Given the description of an element on the screen output the (x, y) to click on. 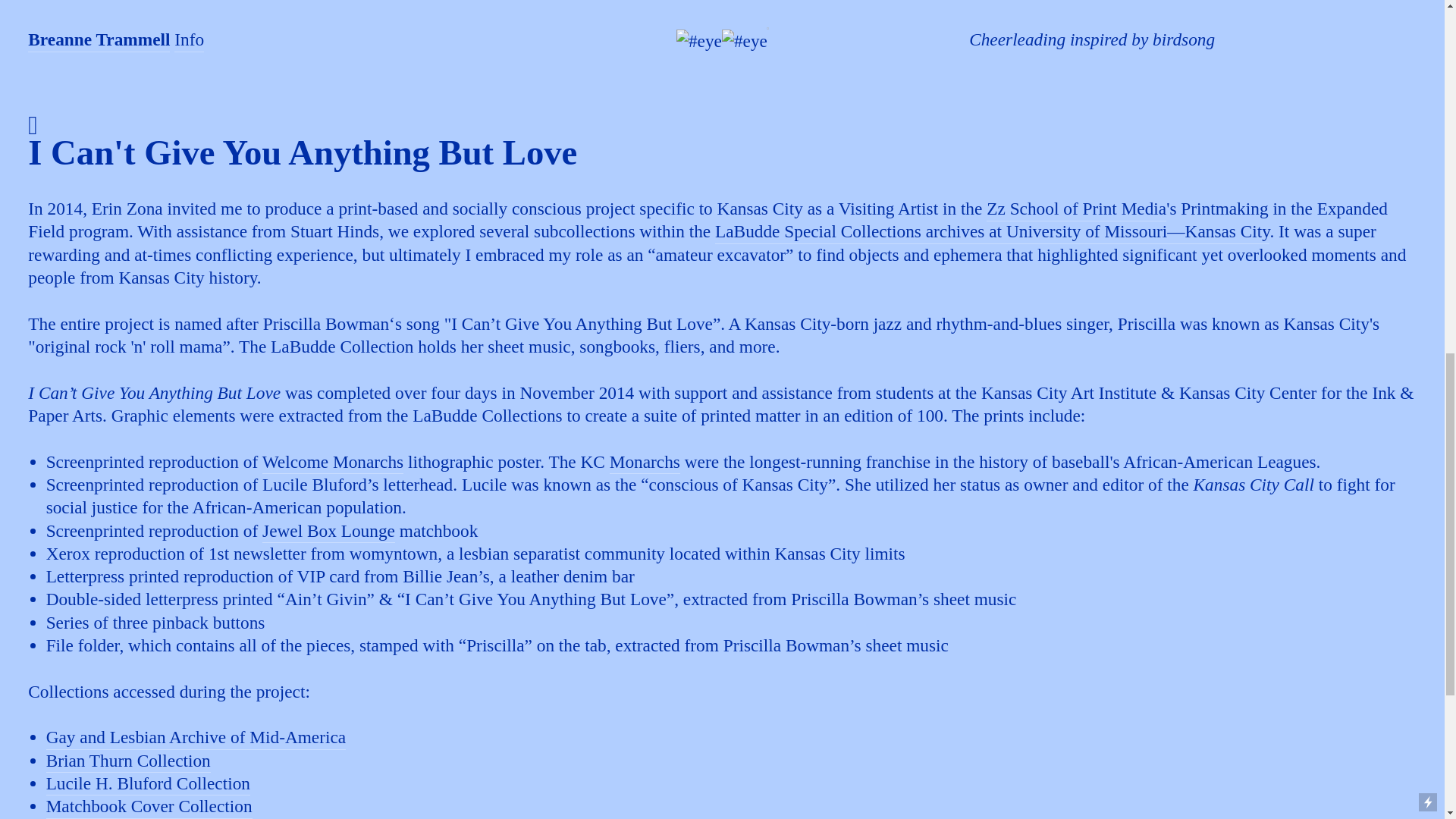
Brian Thurn Collection (128, 762)
Lucile H. Bluford Collection (148, 784)
Welcome Monarchs (333, 463)
Matchbook Cover Collection (148, 807)
Jewel Box Lounge (328, 531)
Monarchs (644, 463)
Zz School of Print Media (1076, 209)
Gay and Lesbian Archive of Mid-America (196, 738)
